Given the description of an element on the screen output the (x, y) to click on. 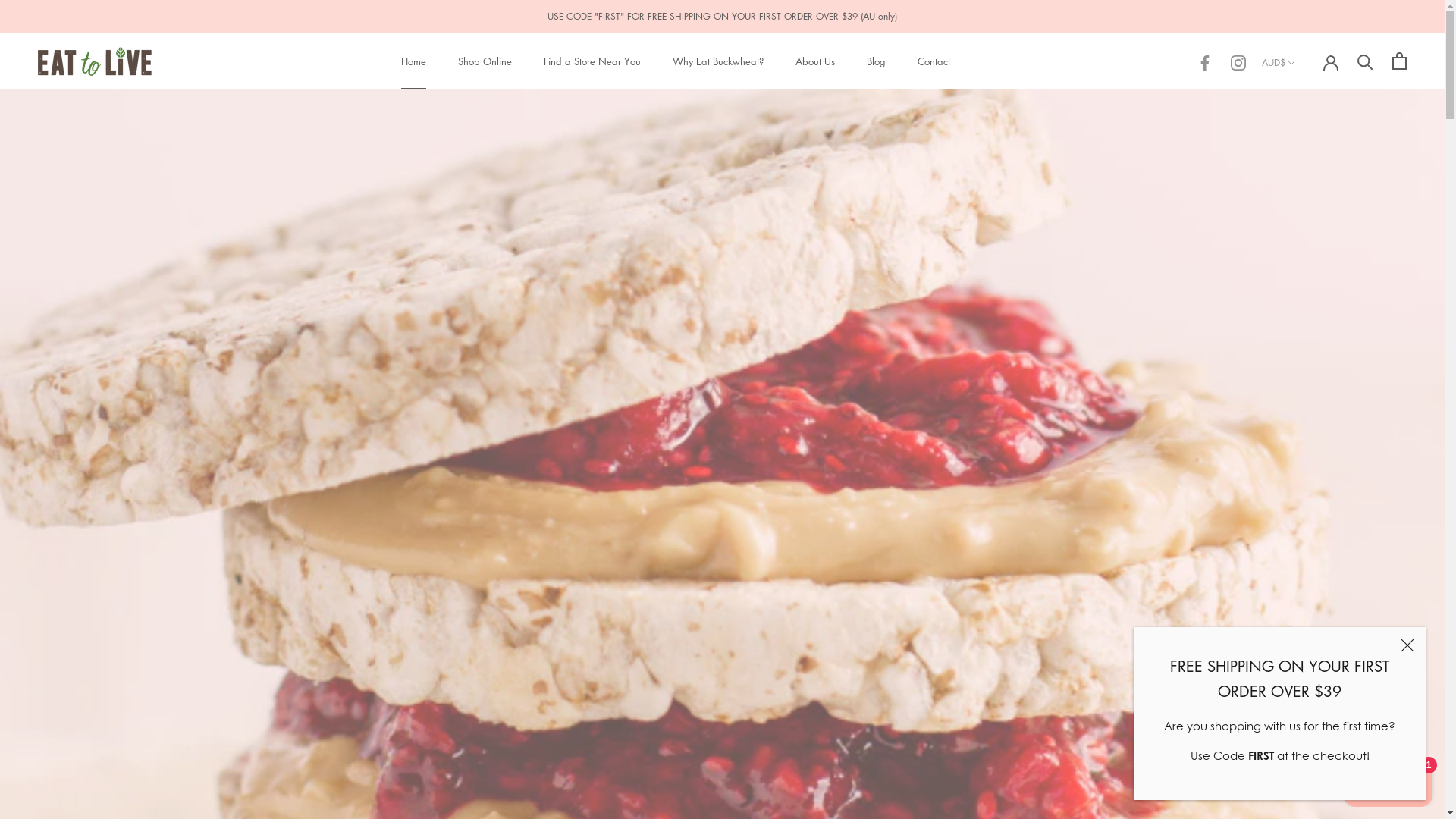
CZK Element type: text (1306, 638)
AWG Element type: text (1306, 231)
DKK Element type: text (1306, 683)
BBD Element type: text (1306, 299)
AFN Element type: text (1306, 118)
CNY Element type: text (1306, 570)
CAD Element type: text (1306, 503)
Blog
Blog Element type: text (875, 60)
AMD Element type: text (1306, 164)
BND Element type: text (1306, 390)
About Us
About Us Element type: text (814, 60)
BDT Element type: text (1306, 322)
DZD Element type: text (1306, 729)
AUD$ Element type: text (1280, 62)
Why Eat Buckwheat?
Why Eat Buckwheat? Element type: text (716, 60)
BAM Element type: text (1306, 277)
SHOP NOW Element type: text (722, 530)
DOP Element type: text (1306, 706)
Home
Home Element type: text (412, 60)
DJF Element type: text (1306, 661)
BZD Element type: text (1306, 480)
BIF Element type: text (1306, 367)
CRC Element type: text (1306, 593)
Find a Store Near You
Find a Store Near You Element type: text (591, 60)
AED Element type: text (1306, 96)
AUD Element type: text (1306, 209)
AZN Element type: text (1306, 254)
Contact
Contact Element type: text (933, 60)
CVE Element type: text (1306, 616)
BWP Element type: text (1306, 457)
BOB Element type: text (1306, 412)
Shop Online
Shop Online Element type: text (484, 60)
ANG Element type: text (1306, 186)
EGP Element type: text (1306, 751)
BGN Element type: text (1306, 344)
ALL Element type: text (1306, 141)
ETB Element type: text (1306, 774)
CHF Element type: text (1306, 548)
EUR Element type: text (1306, 796)
BSD Element type: text (1306, 435)
Shopify online store chat Element type: hover (1388, 780)
CDF Element type: text (1306, 525)
